Given the description of an element on the screen output the (x, y) to click on. 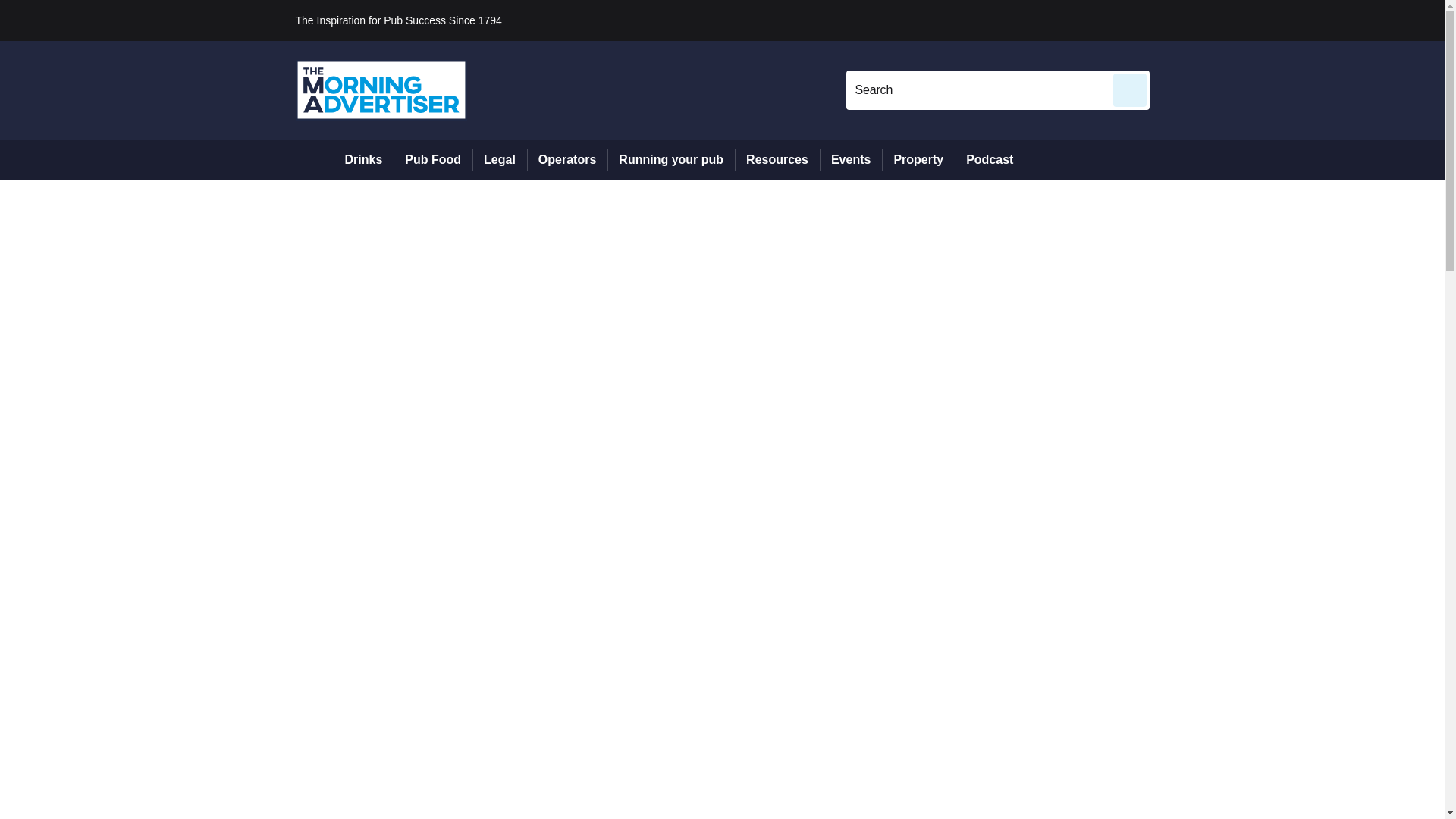
Drinks (363, 159)
Send (1129, 90)
Legal (499, 159)
Send (1129, 89)
The Morning Advertiser (381, 89)
Home (314, 159)
My account (1256, 20)
Home (313, 159)
Pub Food (432, 159)
REGISTER (1250, 20)
